Given the description of an element on the screen output the (x, y) to click on. 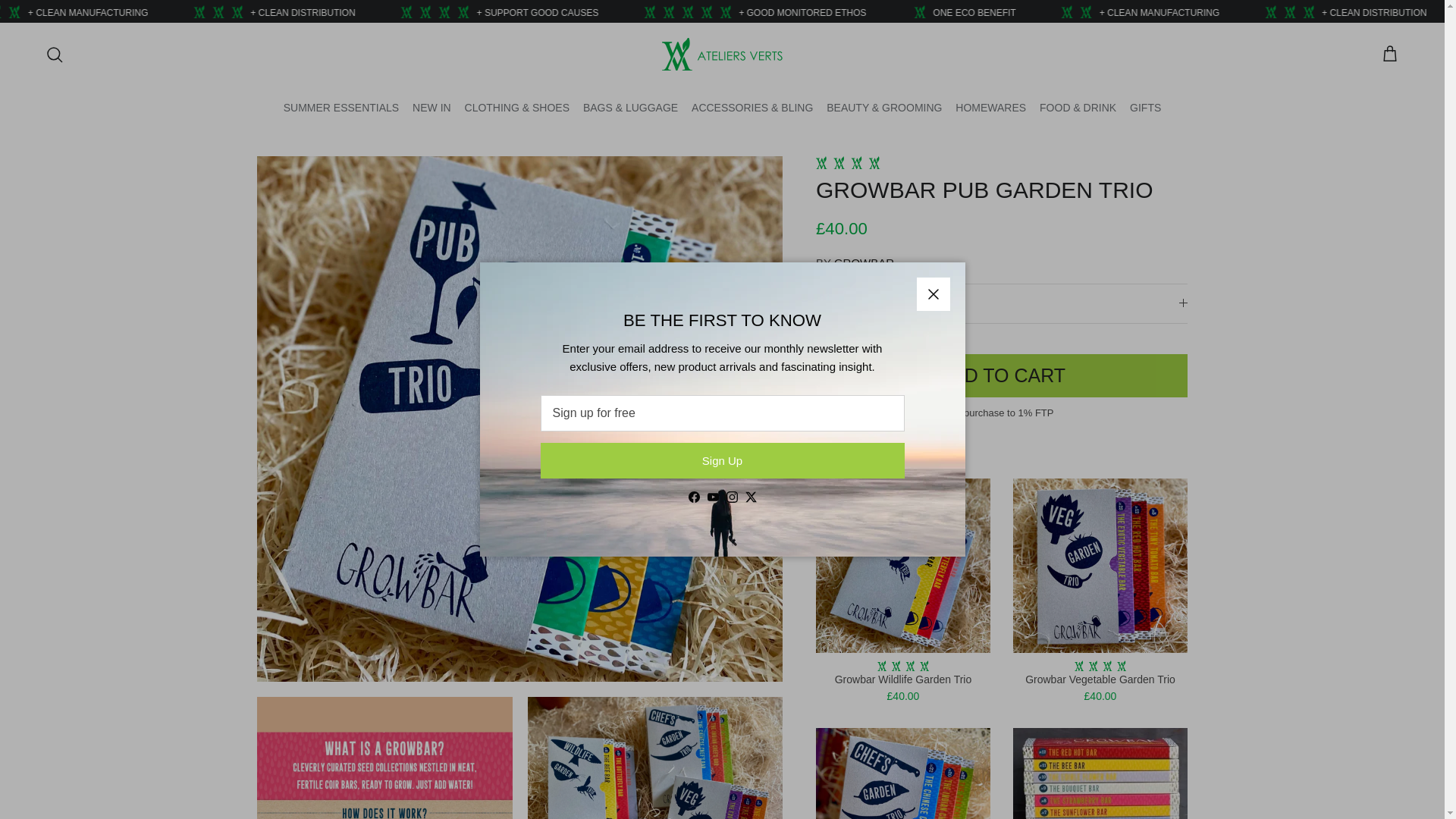
ONE ECO BENEFIT (91, 12)
Ateliers Verts (722, 53)
Ateliers Verts on YouTube (711, 496)
Ateliers Verts on Instagram (732, 496)
Ateliers Verts on Twitter (749, 496)
Ateliers Verts on Facebook (694, 496)
ONE ECO BENEFIT (1135, 12)
